Given the description of an element on the screen output the (x, y) to click on. 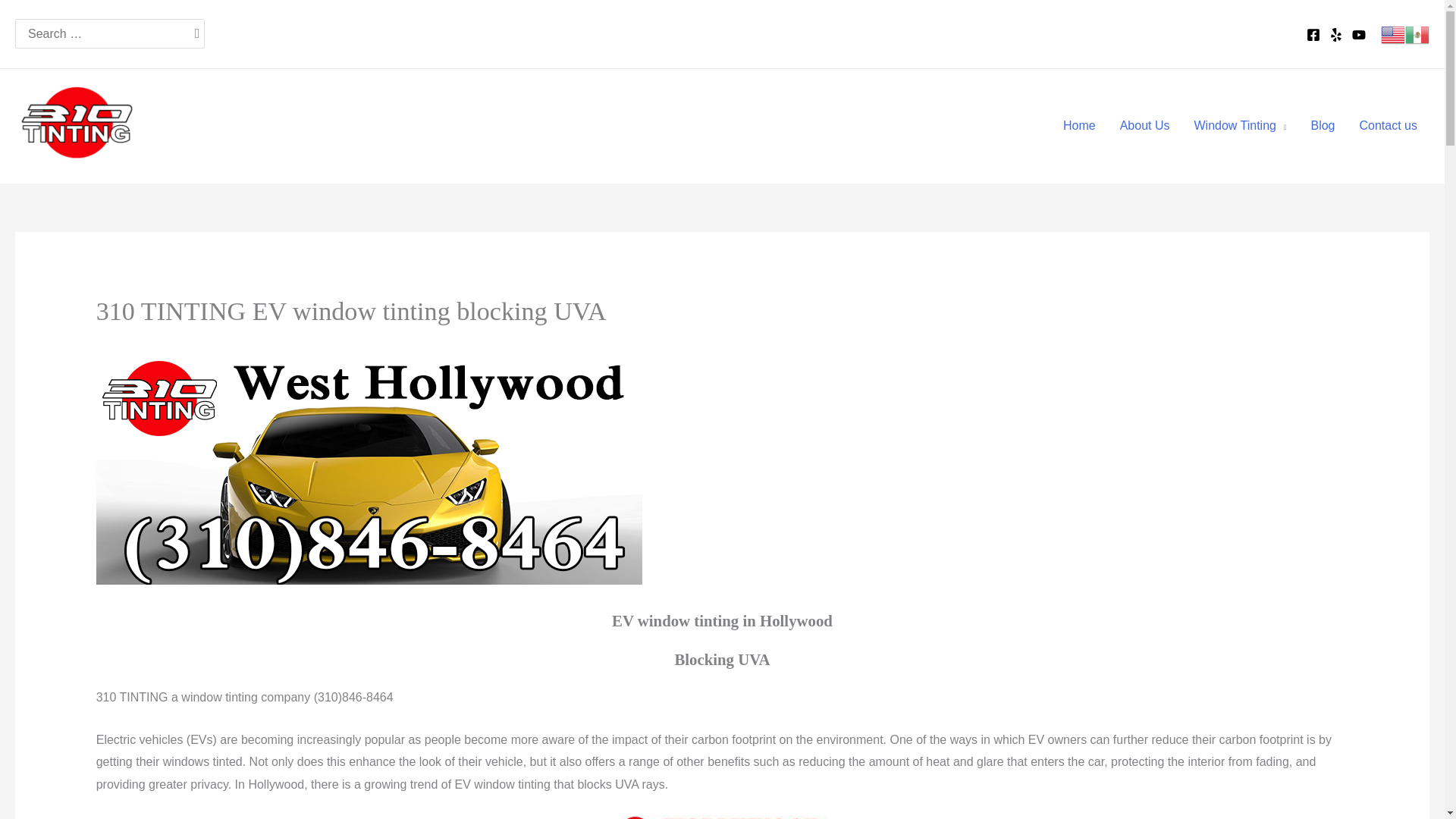
Home (1079, 125)
About Us (1145, 125)
English (1392, 33)
Spanish (1417, 33)
Contact us (1388, 125)
Blog (1322, 125)
Window Tinting (1239, 125)
